Given the description of an element on the screen output the (x, y) to click on. 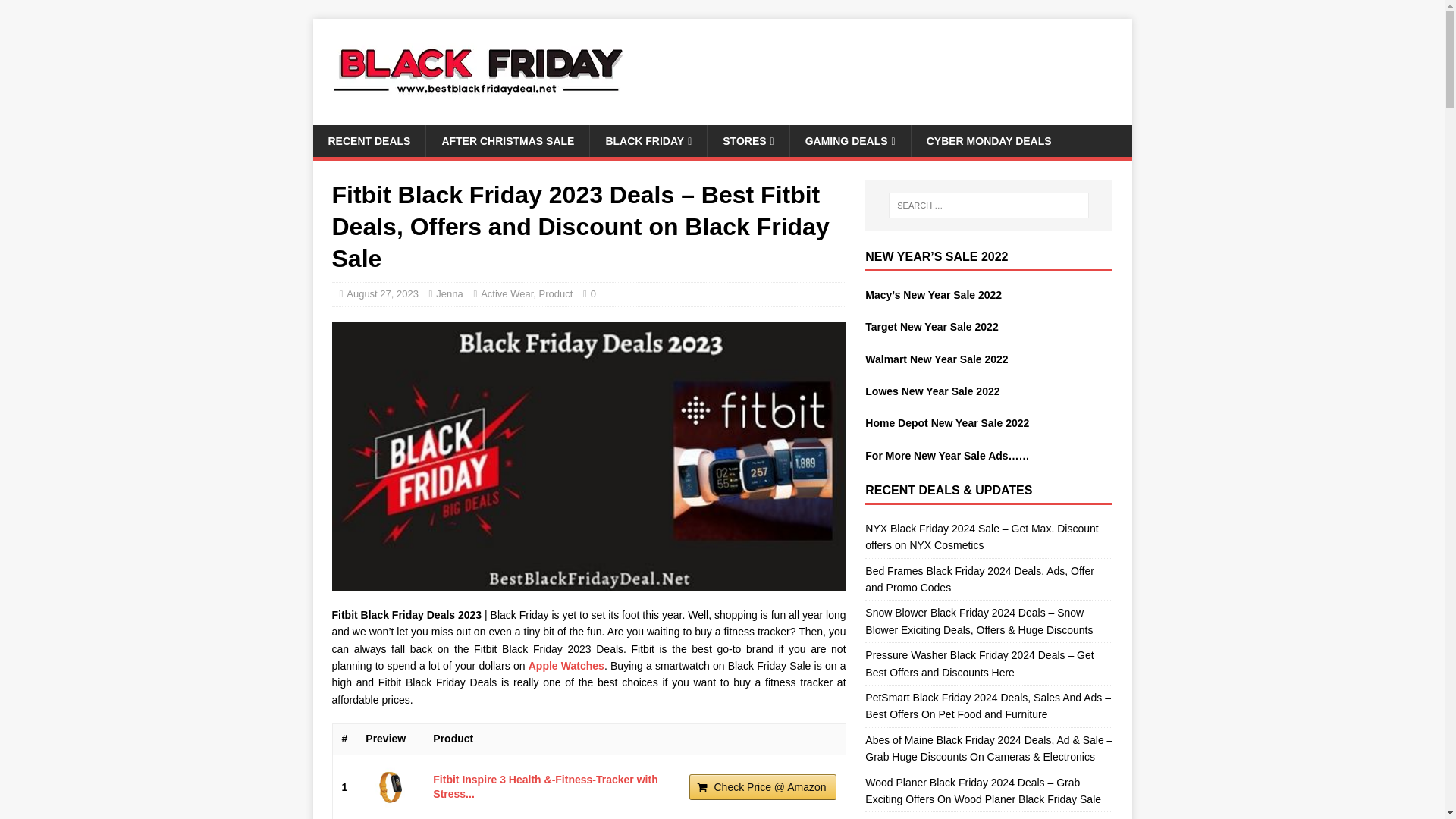
AFTER CHRISTMAS SALE (507, 141)
RECENT DEALS (369, 141)
BLACK FRIDAY (647, 141)
STORES (747, 141)
GAMING DEALS (850, 141)
